Given the description of an element on the screen output the (x, y) to click on. 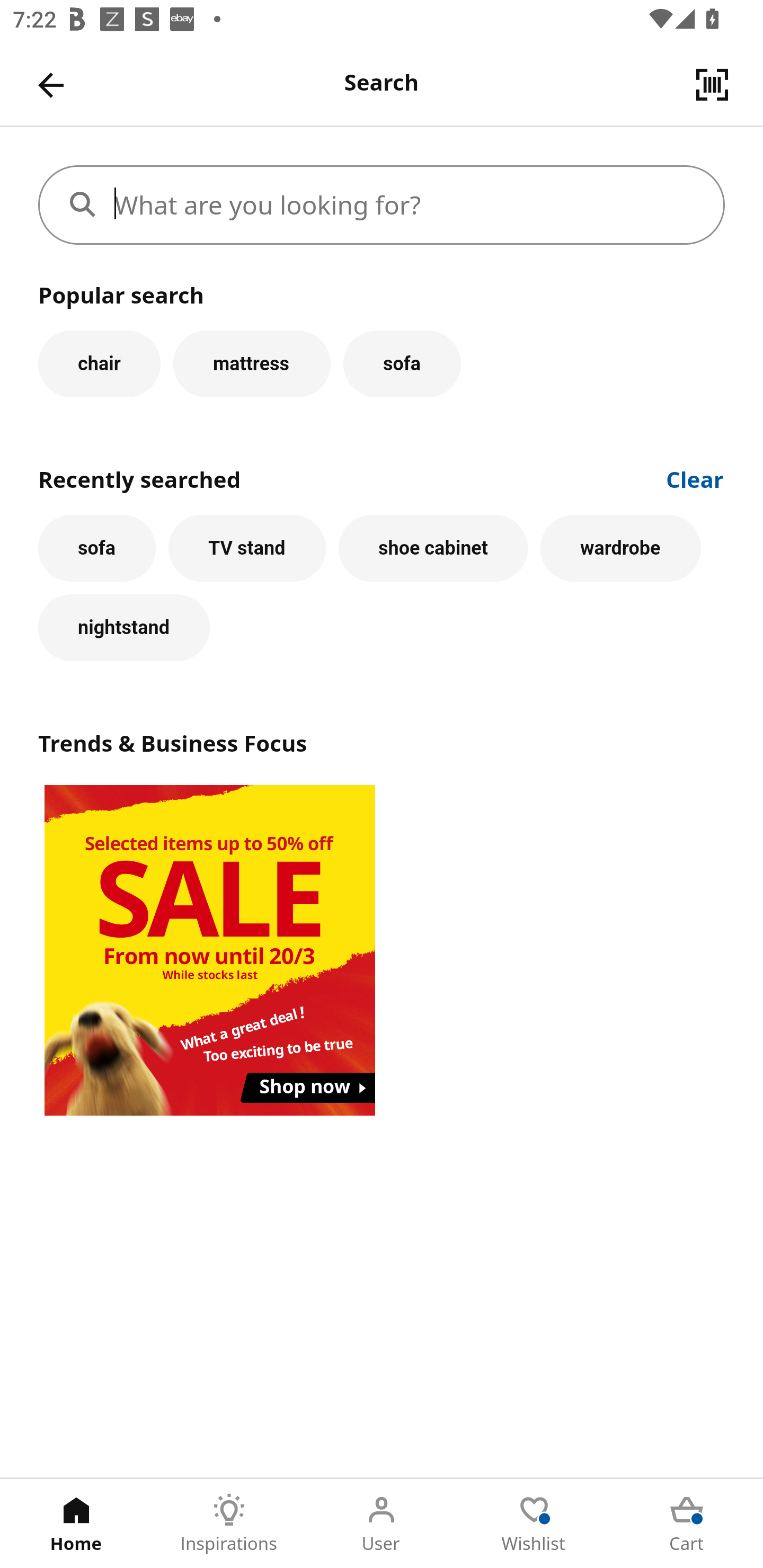
chair (99, 363)
mattress (251, 363)
sofa (401, 363)
Clear (695, 477)
sofa (96, 547)
TV stand (246, 547)
shoe cabinet (432, 547)
wardrobe (620, 547)
nightstand (123, 627)
Home
Tab 1 of 5 (76, 1522)
Inspirations
Tab 2 of 5 (228, 1522)
User
Tab 3 of 5 (381, 1522)
Wishlist
Tab 4 of 5 (533, 1522)
Cart
Tab 5 of 5 (686, 1522)
